Given the description of an element on the screen output the (x, y) to click on. 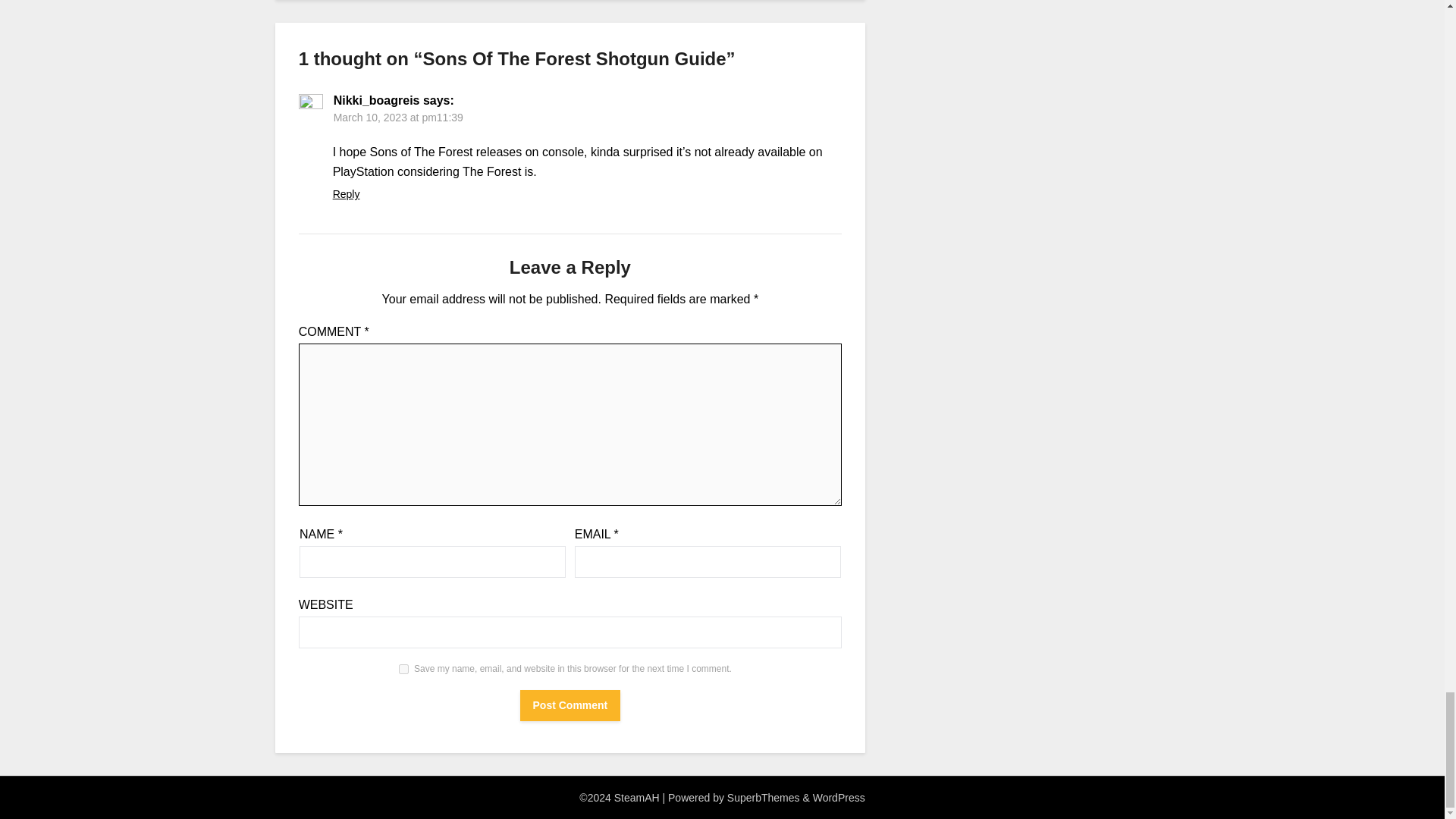
SuperbThemes (762, 797)
March 10, 2023 at pm11:39 (398, 117)
Reply (346, 193)
Post Comment (570, 705)
yes (403, 669)
Post Comment (570, 705)
